Given the description of an element on the screen output the (x, y) to click on. 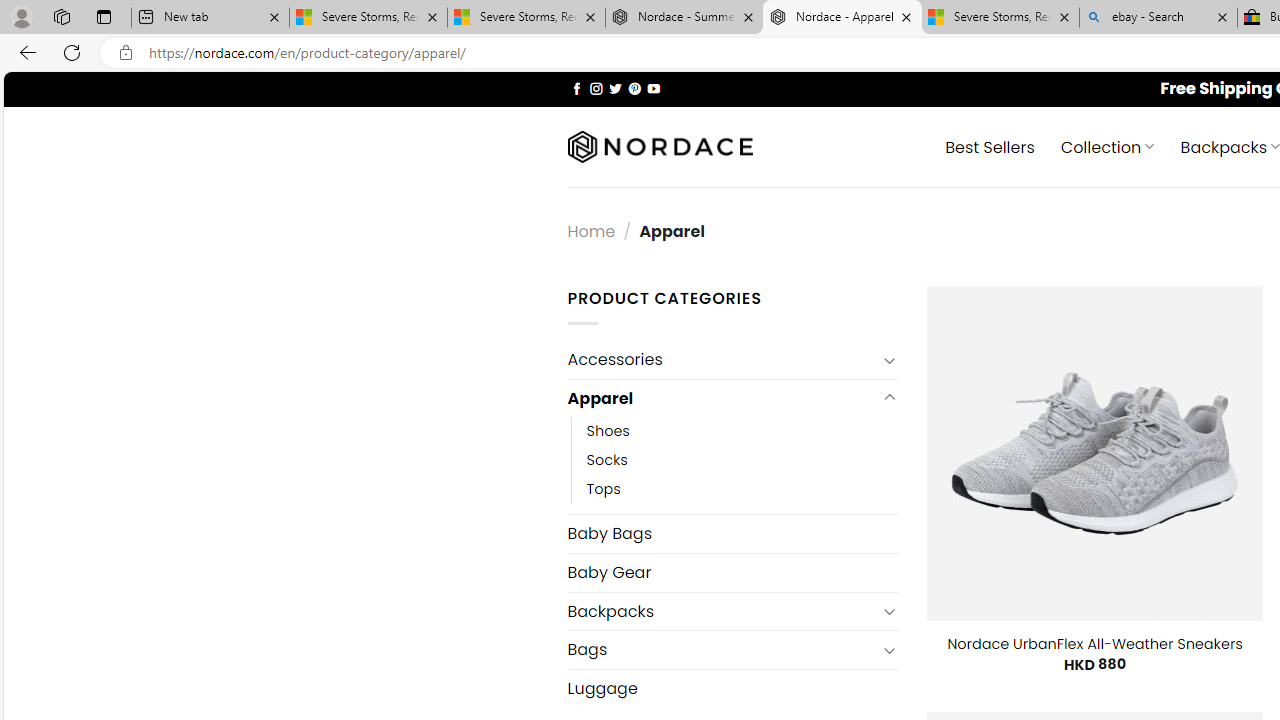
Follow on Instagram (596, 88)
Nordace UrbanFlex All-Weather Sneakers (1094, 643)
Shoes (742, 431)
Shoes (607, 431)
Follow on Facebook (576, 88)
Baby Bags (732, 533)
Follow on Twitter (615, 88)
Backpacks (721, 610)
Follow on YouTube (653, 88)
